Given the description of an element on the screen output the (x, y) to click on. 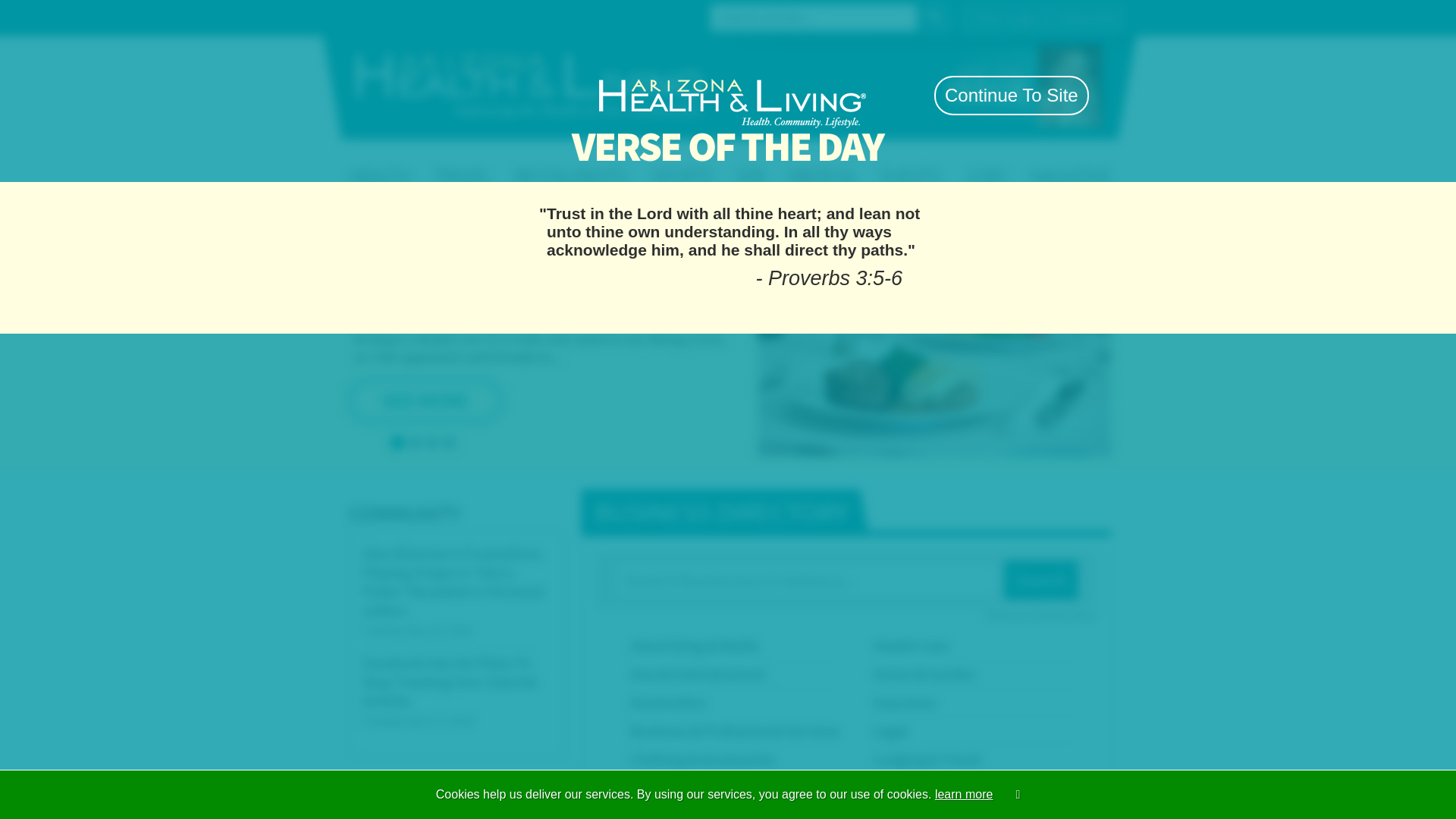
EVENTS (986, 160)
advertise (927, 93)
List, Post and Share (727, 128)
Join Community (965, 16)
LIVING (541, 160)
HEALTH (424, 160)
SHOP (872, 160)
Contact Us (442, 16)
FOOD (771, 160)
subscribe (878, 93)
